Given the description of an element on the screen output the (x, y) to click on. 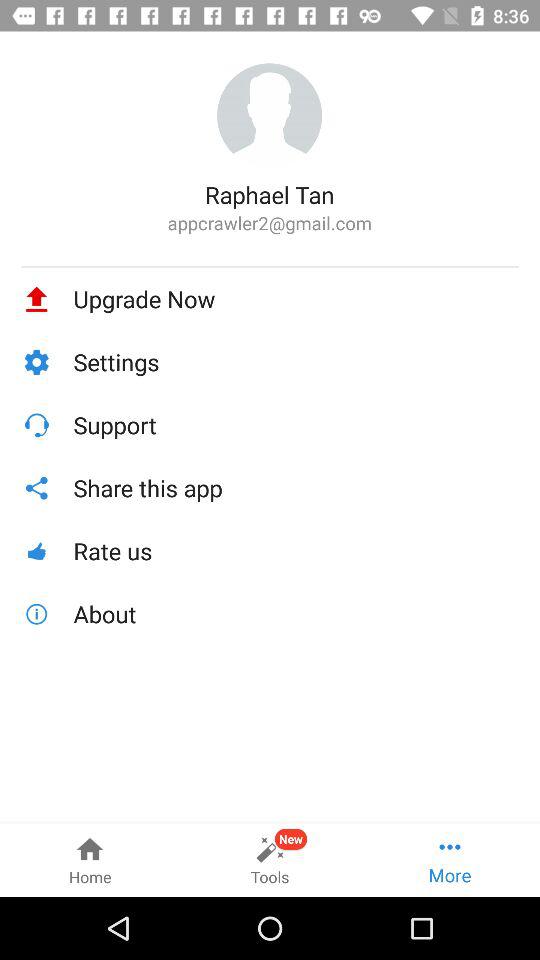
choose upgrade now icon (296, 299)
